Given the description of an element on the screen output the (x, y) to click on. 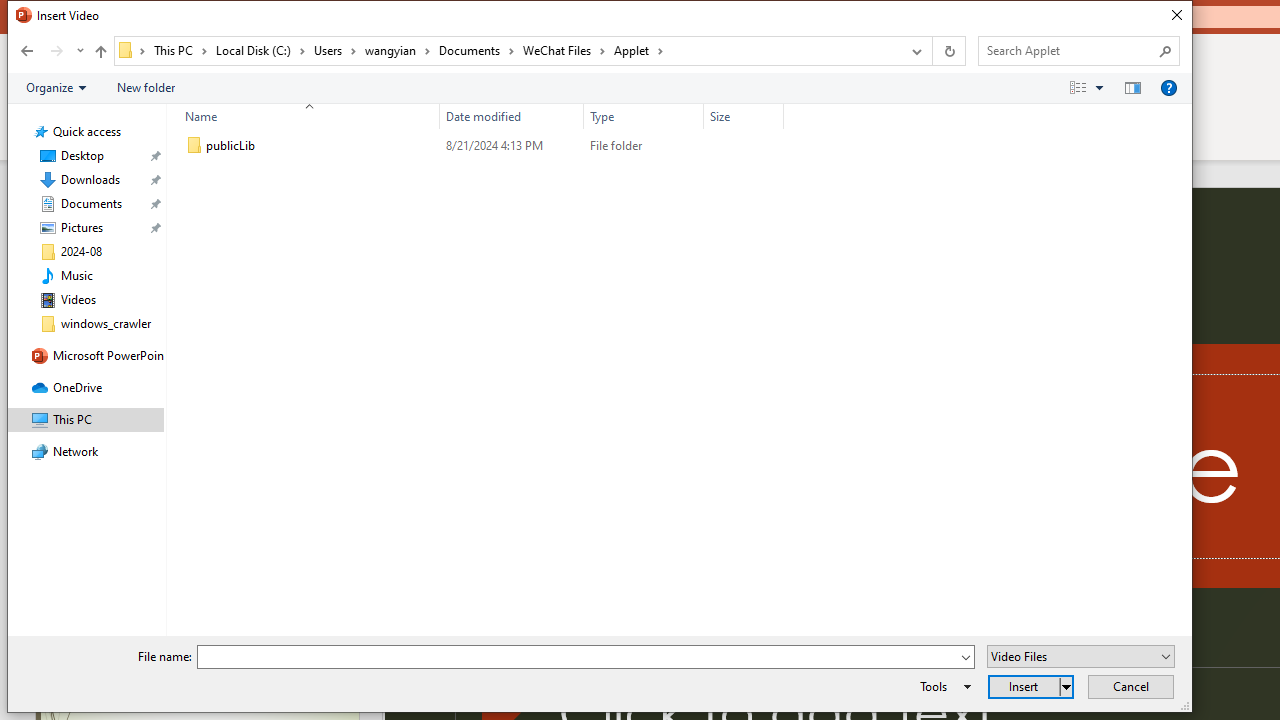
Local Disk (C:) (260, 50)
Files of type: (1080, 656)
Recent locations (79, 51)
Filter dropdown (775, 115)
Search Box (1069, 50)
Class: UIImage (194, 145)
View Slider (1099, 87)
File name: (586, 656)
Views (1090, 87)
All locations (132, 50)
Navigation buttons (50, 51)
Size (743, 145)
Name (321, 145)
Command Module (599, 87)
